Given the description of an element on the screen output the (x, y) to click on. 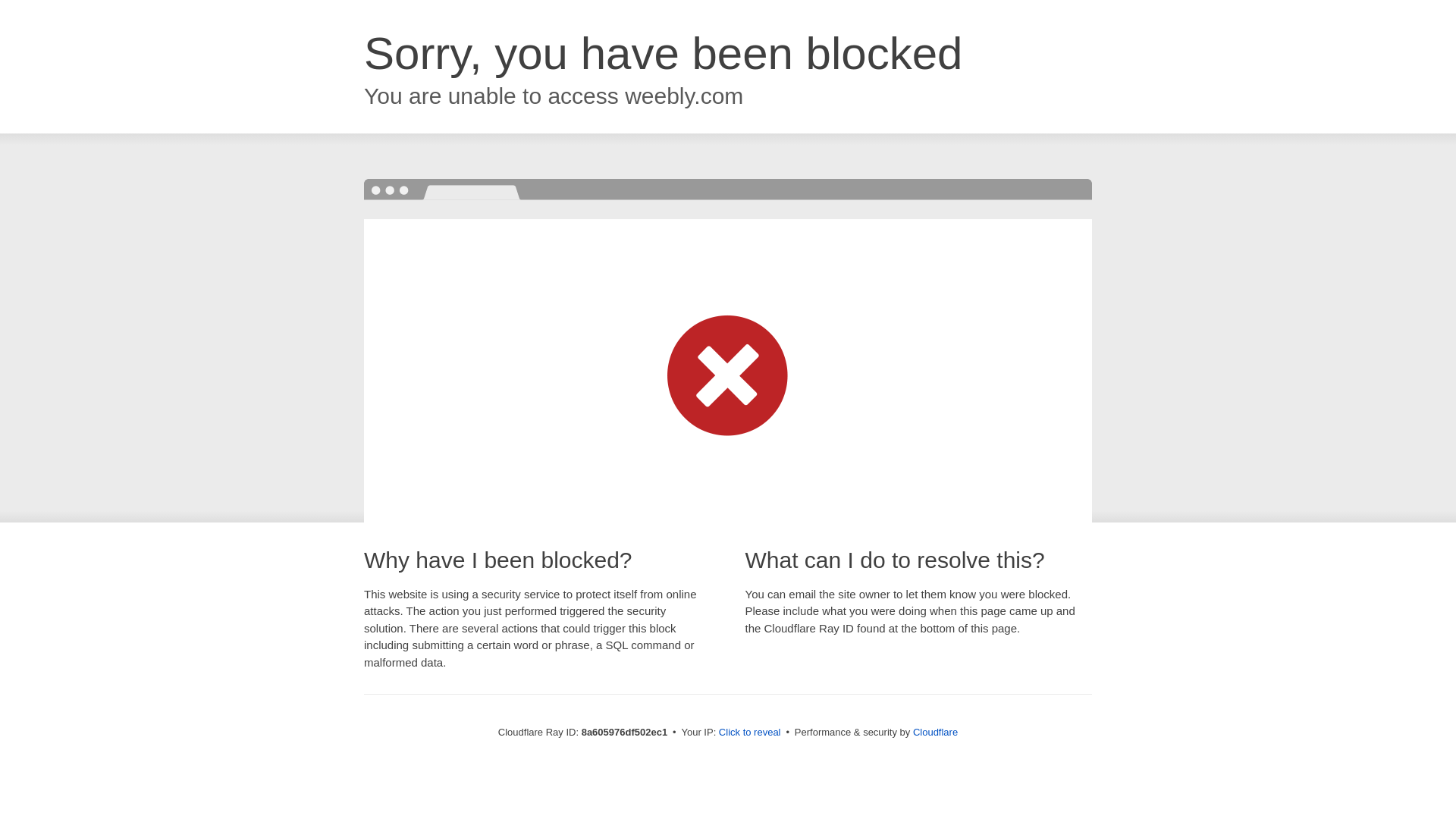
Cloudflare (935, 731)
Click to reveal (749, 732)
